Given the description of an element on the screen output the (x, y) to click on. 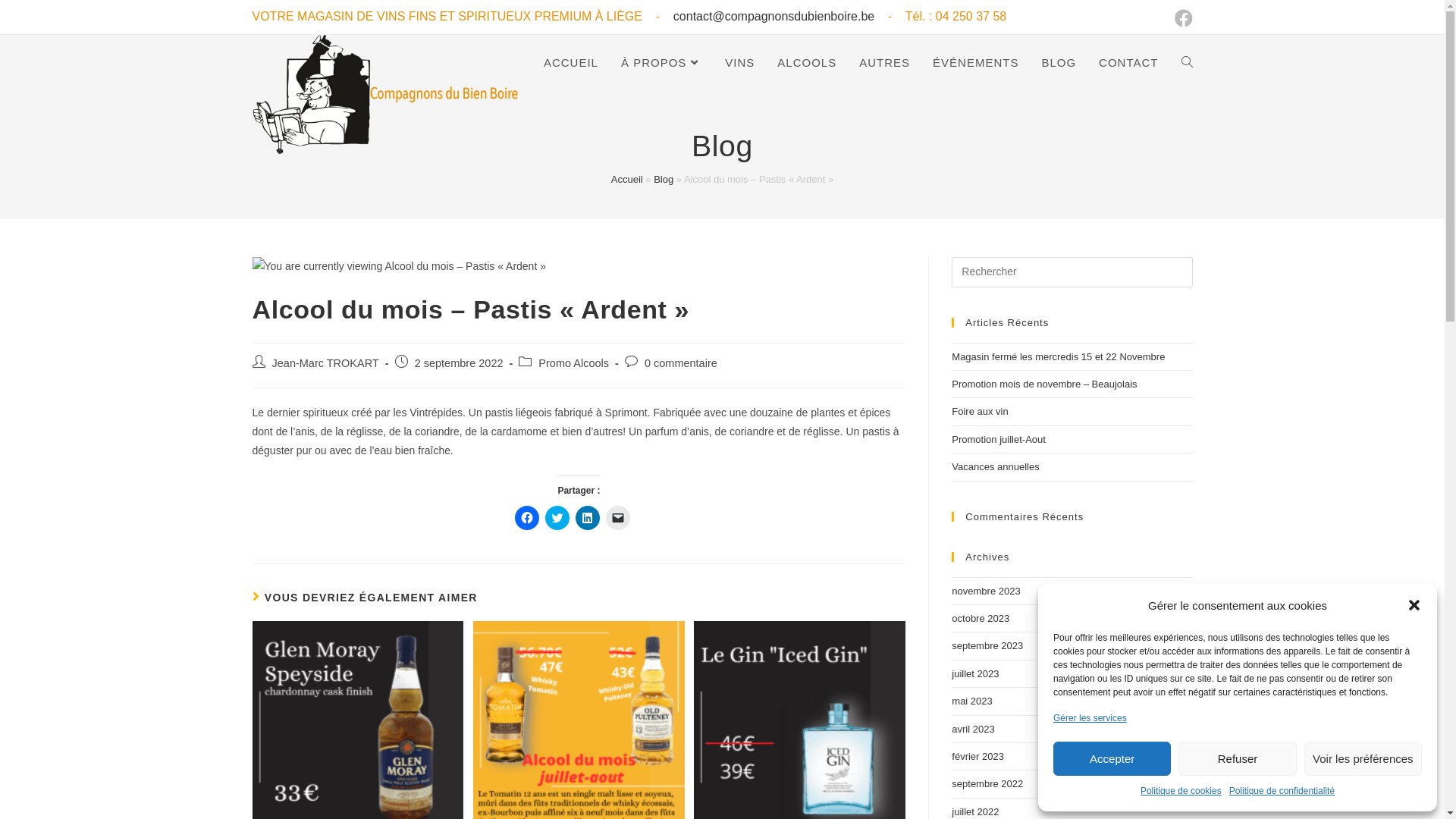
Jean-Marc TROKART Element type: text (324, 363)
Politique de cookies Element type: text (1180, 791)
juillet 2023 Element type: text (974, 673)
septembre 2022 Element type: text (986, 783)
juillet 2022 Element type: text (974, 811)
ALCOOLS Element type: text (806, 62)
VINS Element type: text (739, 62)
novembre 2023 Element type: text (985, 590)
Accepter Element type: text (1111, 758)
contact@compagnonsdubienboire.be Element type: text (773, 15)
0 commentaire Element type: text (680, 363)
Blog Element type: text (663, 179)
Refuser Element type: text (1236, 758)
Foire aux vin Element type: text (979, 411)
AUTRES Element type: text (884, 62)
octobre 2023 Element type: text (980, 618)
mai 2023 Element type: text (971, 700)
ACCUEIL Element type: text (570, 62)
Vacances annuelles Element type: text (994, 466)
avril 2023 Element type: text (972, 728)
Promotion juillet-Aout Element type: text (998, 439)
BLOG Element type: text (1058, 62)
CONTACT Element type: text (1128, 62)
Promo Alcools Element type: text (573, 363)
septembre 2023 Element type: text (986, 645)
Accueil Element type: text (627, 179)
